Given the description of an element on the screen output the (x, y) to click on. 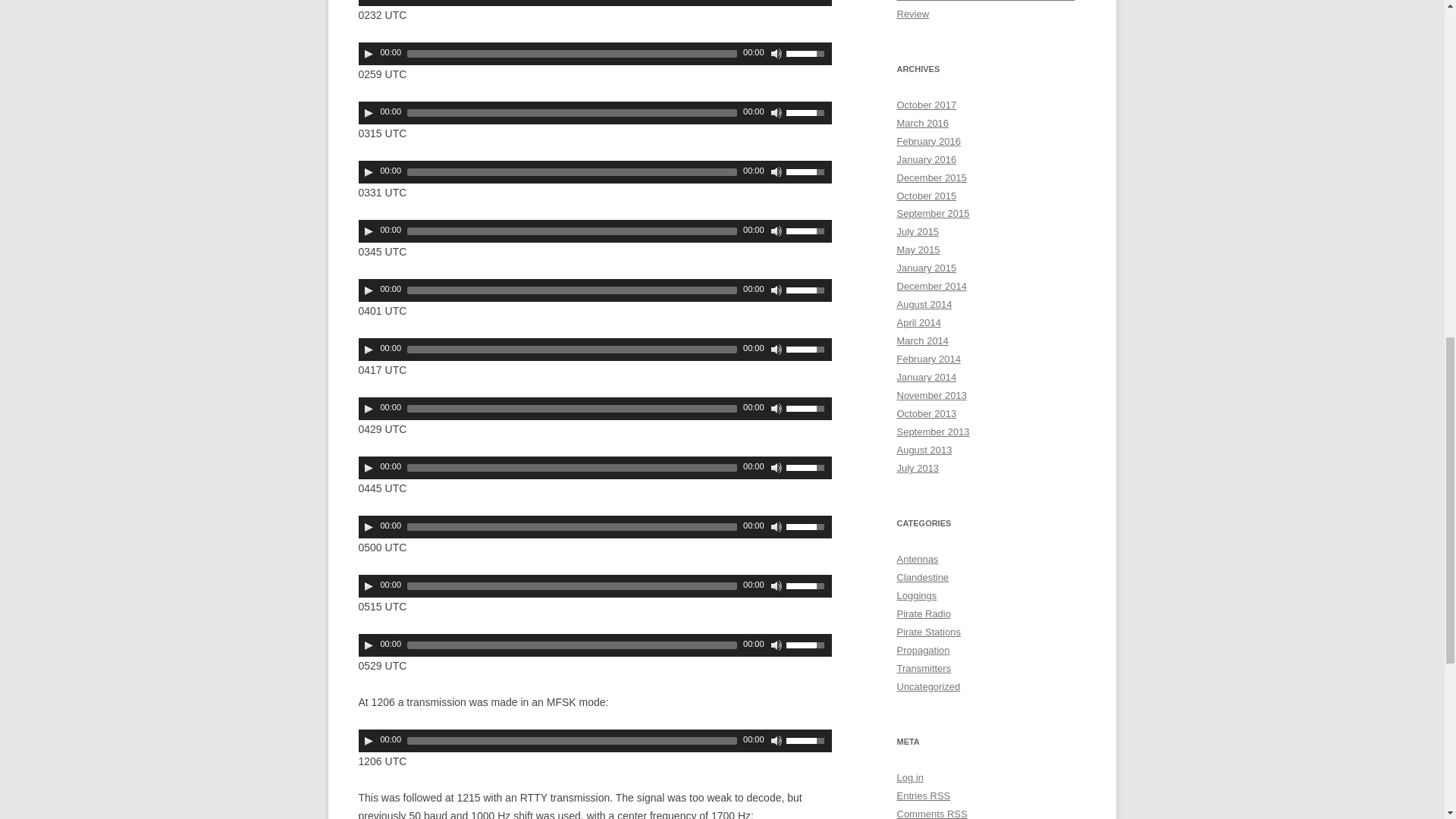
Mute Toggle (776, 112)
Play (368, 53)
Play (368, 231)
Mute Toggle (776, 172)
Play (368, 290)
Mute Toggle (776, 53)
Play (368, 172)
Mute Toggle (776, 231)
Play (368, 349)
Play (368, 112)
Mute Toggle (776, 290)
